Given the description of an element on the screen output the (x, y) to click on. 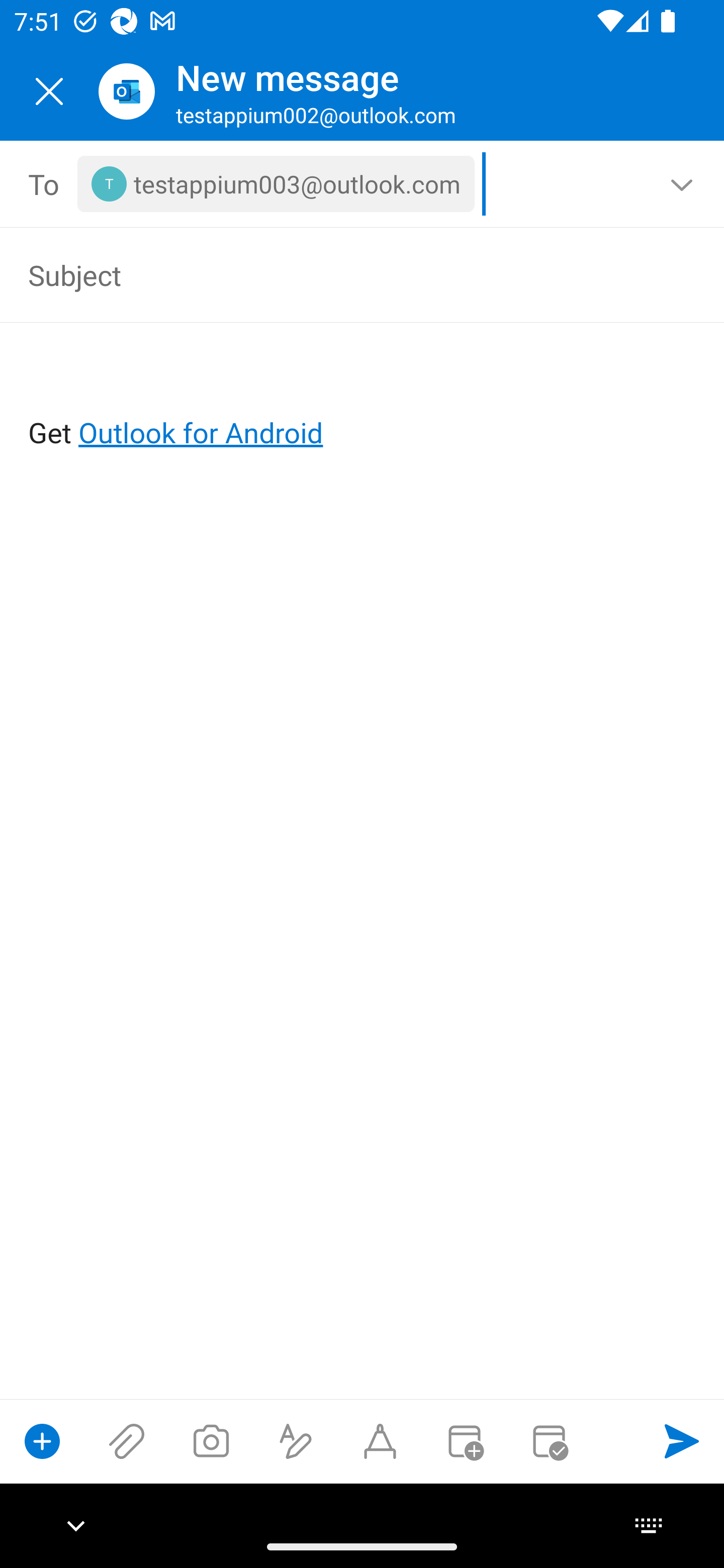
Close (49, 91)
To, 1 recipient <testappium003@outlook.com> (362, 184)
Subject (333, 274)


Get Outlook for Android (363, 400)
Show compose options (42, 1440)
Attach files (126, 1440)
Take a photo (210, 1440)
Show formatting options (295, 1440)
Start Ink compose (380, 1440)
Convert to event (464, 1440)
Send availability (548, 1440)
Send (681, 1440)
